Given the description of an element on the screen output the (x, y) to click on. 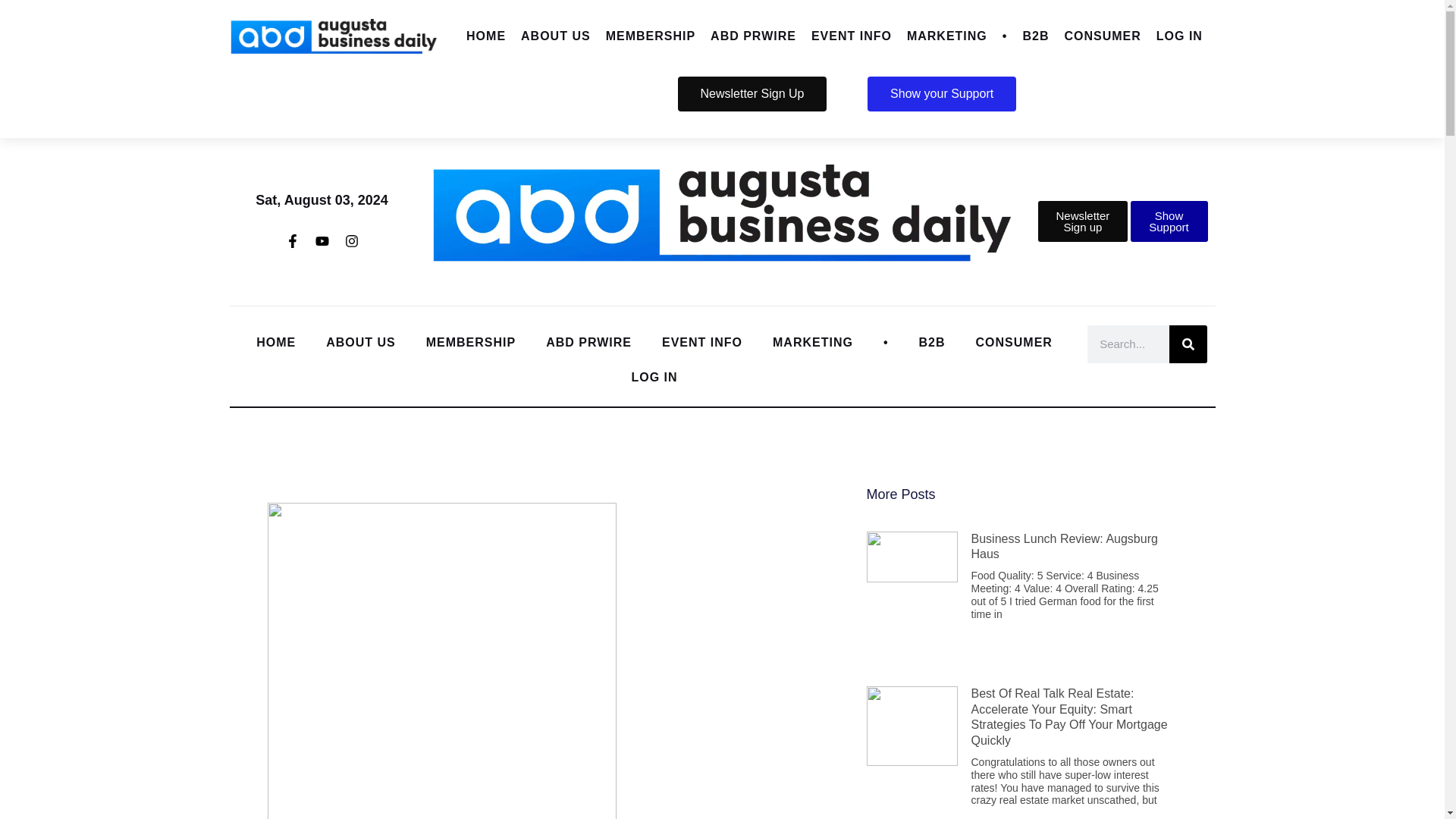
MEMBERSHIP (650, 36)
EVENT INFO (851, 36)
ABD PRWIRE (753, 36)
MARKETING (946, 36)
ABOUT US (555, 36)
HOME (485, 36)
